Given the description of an element on the screen output the (x, y) to click on. 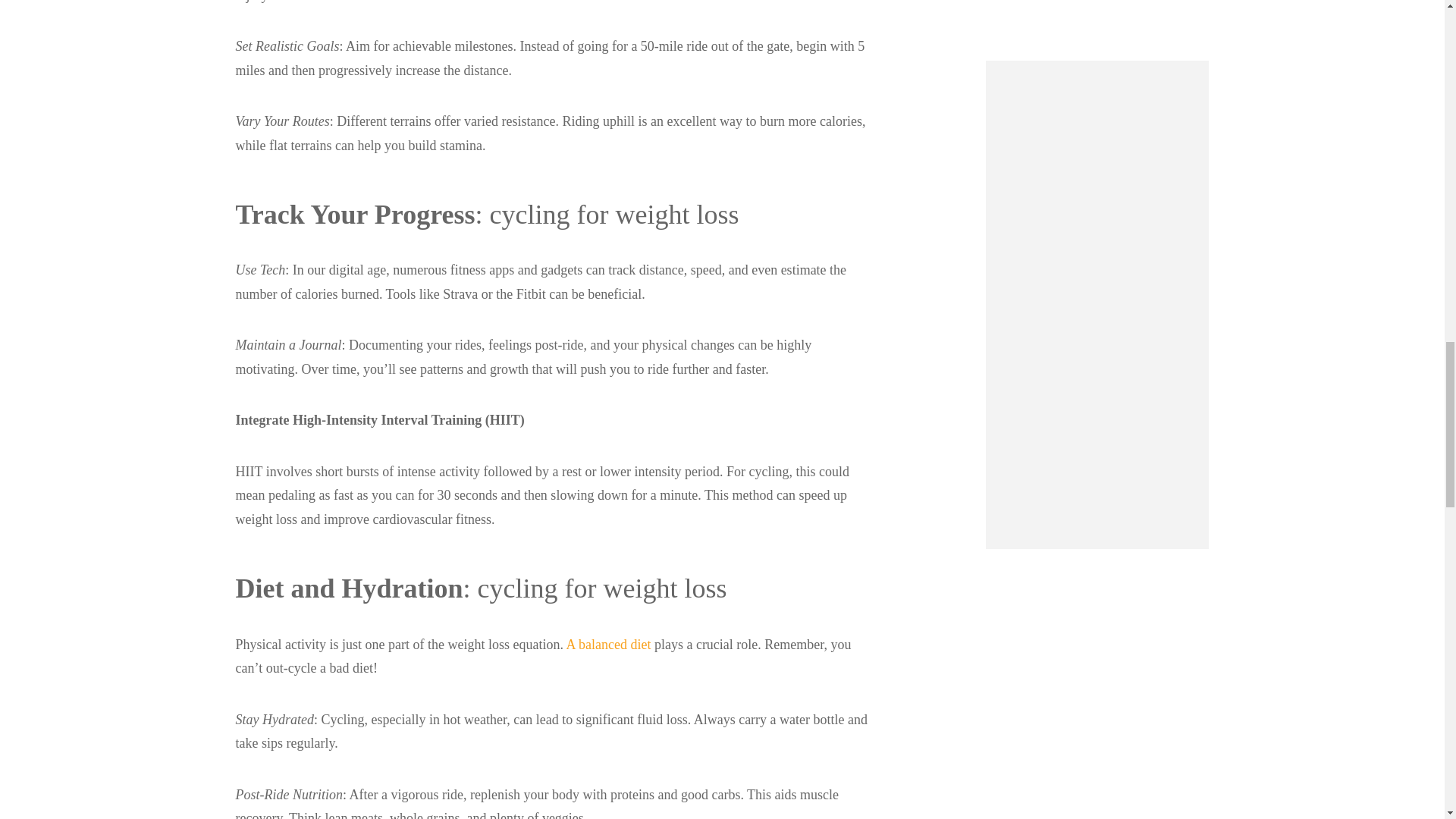
A balanced diet (608, 644)
